Given the description of an element on the screen output the (x, y) to click on. 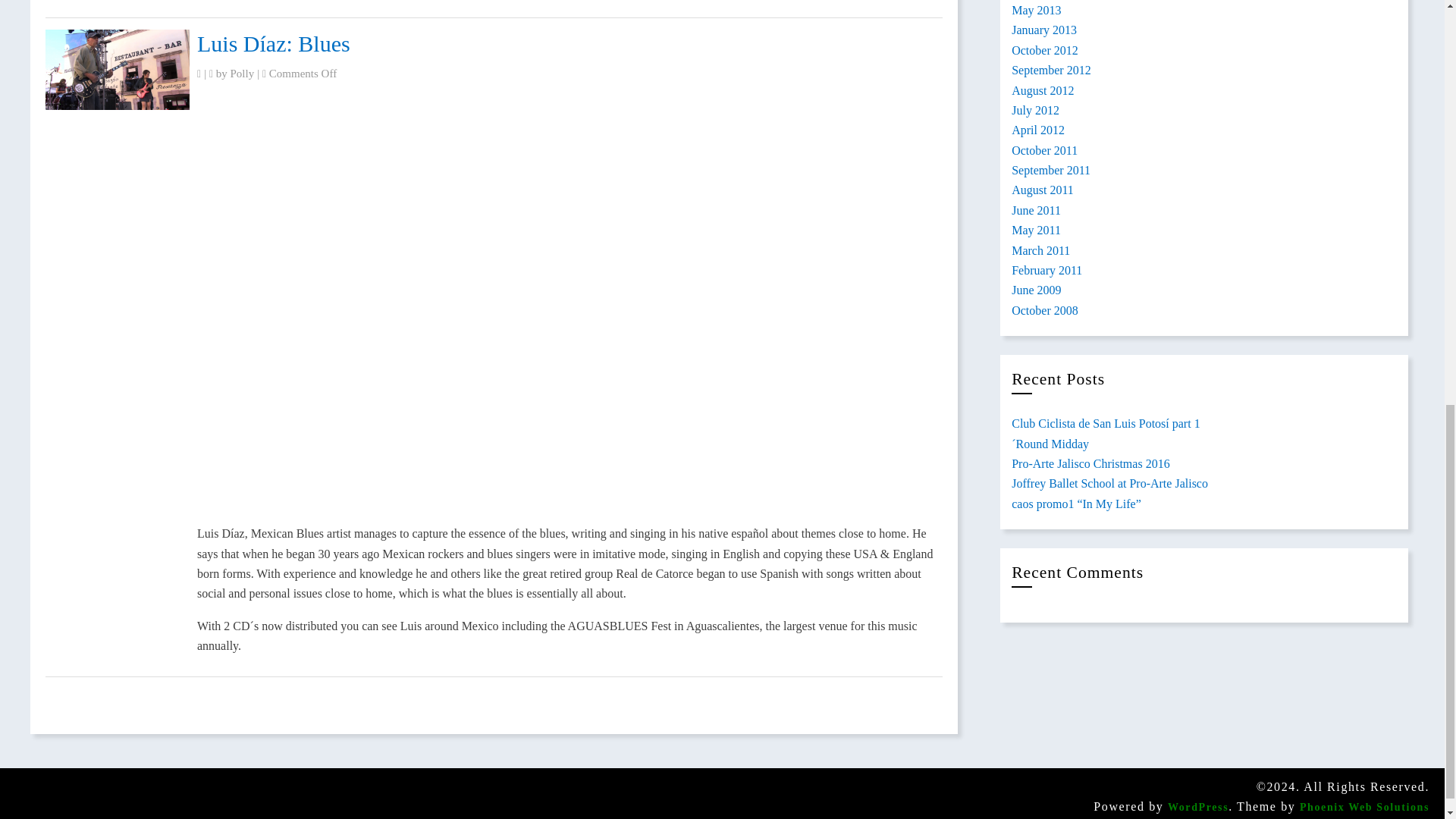
April 2012 (1037, 129)
September 2011 (1050, 169)
May 2011 (1036, 229)
October 2012 (1044, 50)
September 2012 (1050, 69)
March 2011 (1040, 250)
July 2012 (1035, 110)
Polly (242, 73)
October 2011 (1044, 150)
May 2013 (1036, 10)
June 2011 (1036, 210)
August 2011 (1042, 189)
August 2012 (1042, 90)
January 2013 (1044, 29)
